Given the description of an element on the screen output the (x, y) to click on. 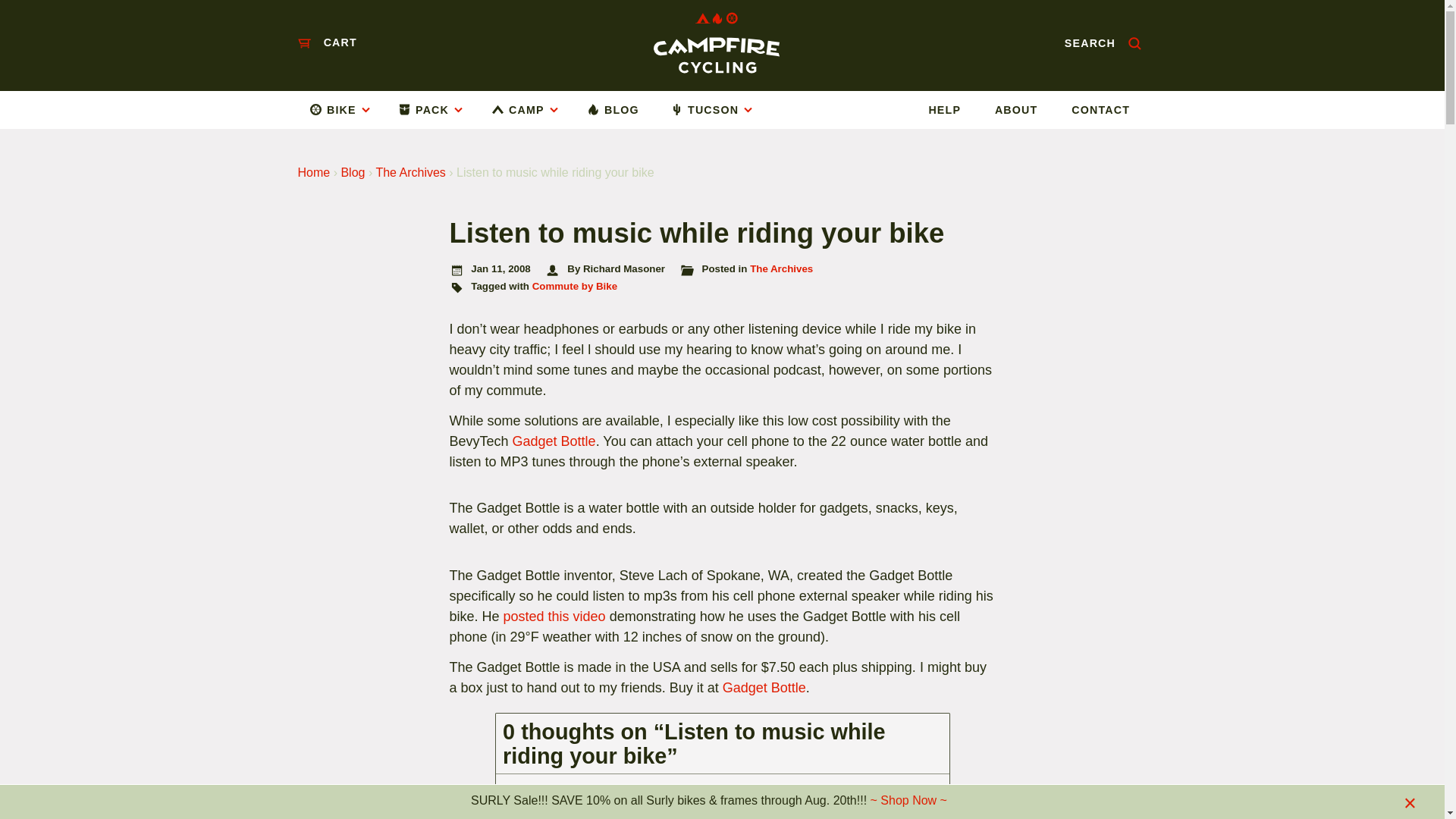
CART (326, 42)
to home page (715, 42)
BIKE (346, 109)
SEARCH (1102, 42)
